Given the description of an element on the screen output the (x, y) to click on. 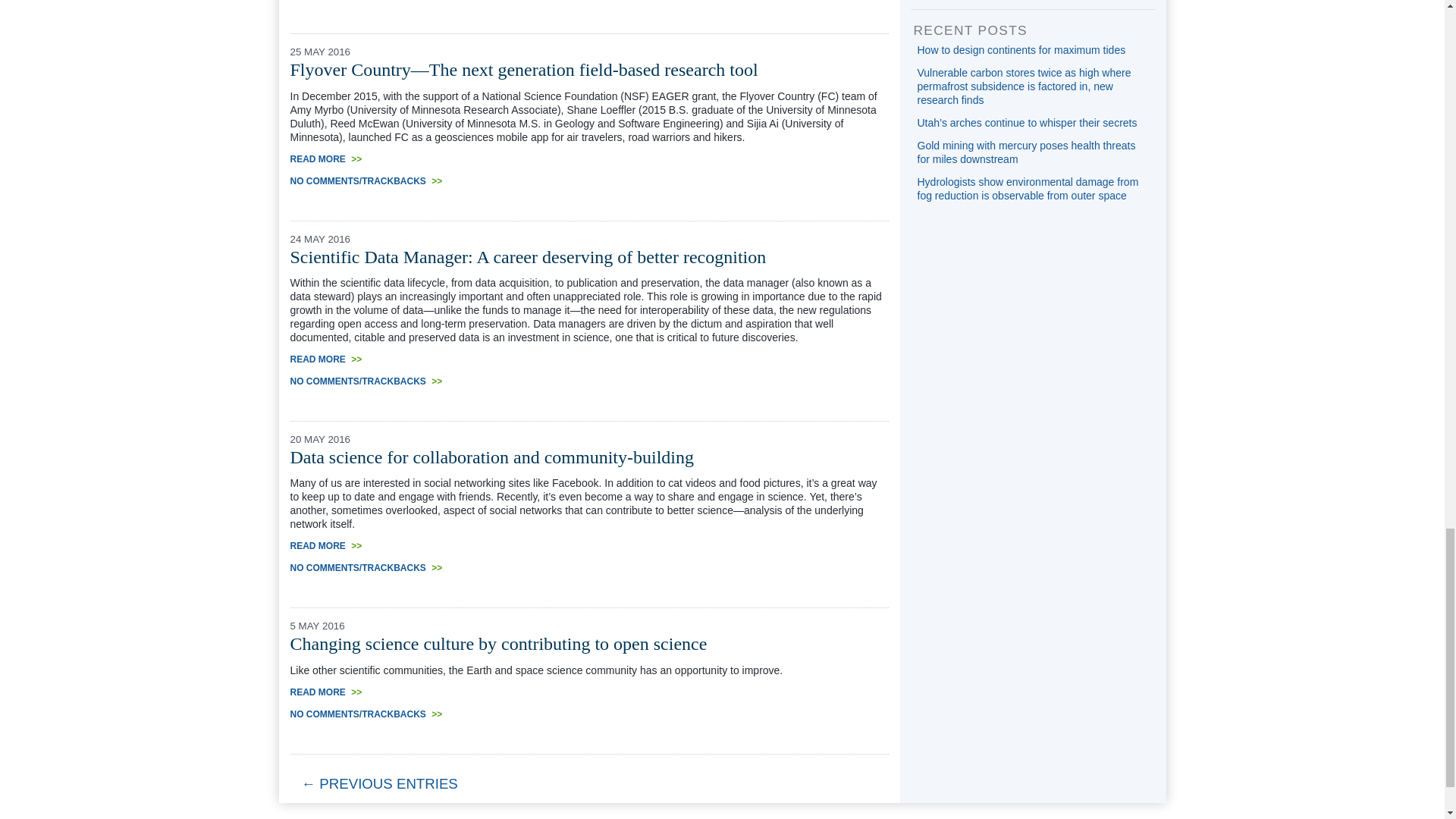
Changing science culture by contributing to open science (497, 643)
Data science for collaboration and community-building (491, 456)
